Given the description of an element on the screen output the (x, y) to click on. 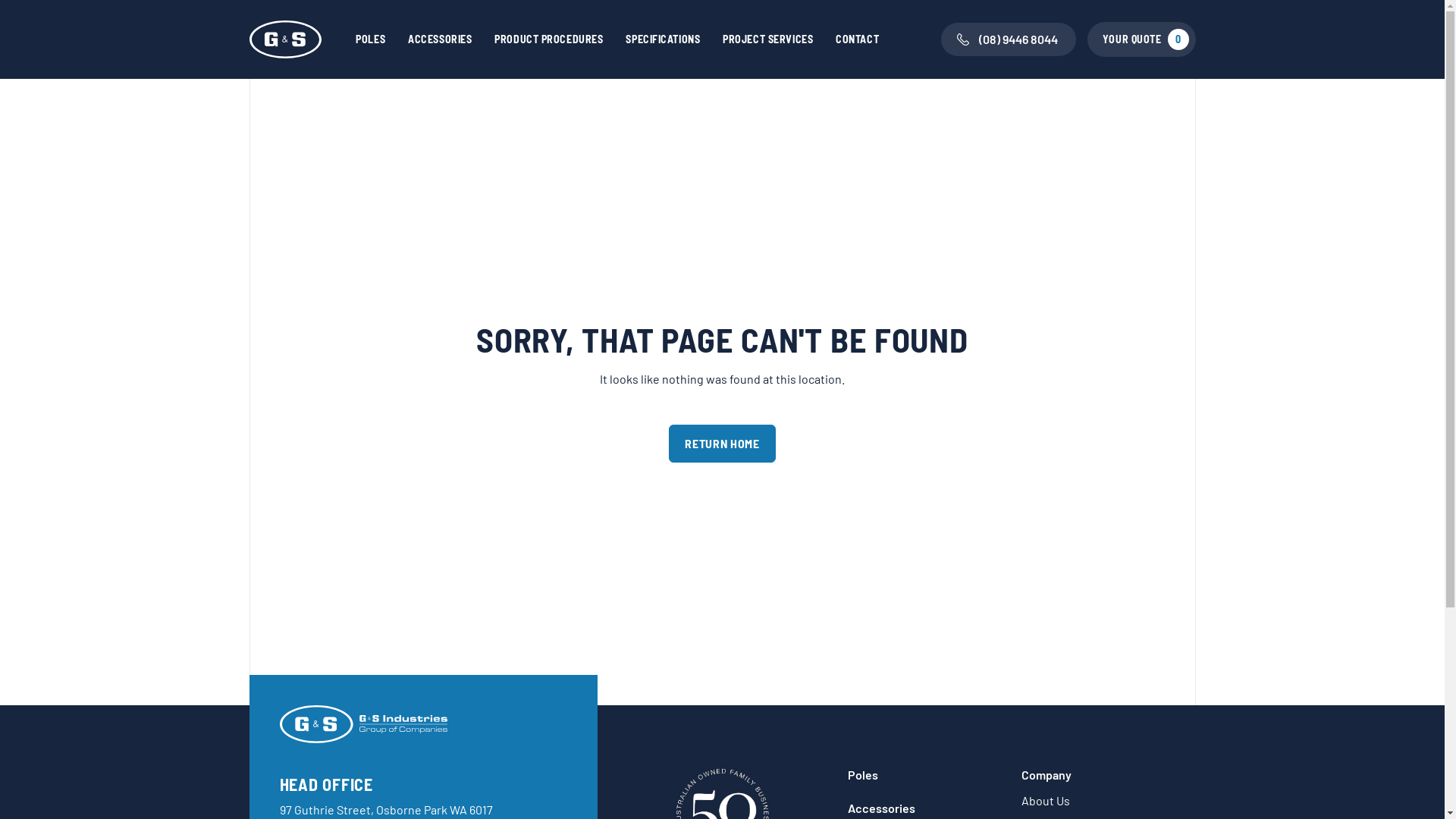
PRODUCT PROCEDURES Element type: text (548, 39)
G&S Industries Element type: hover (362, 723)
POLES Element type: text (370, 39)
YOUR QUOTE
0 Element type: text (1141, 38)
G&S Industries Element type: hover (285, 39)
Poles Element type: text (862, 774)
Company Element type: text (1046, 774)
About Us Element type: text (1045, 800)
(08) 9446 8044 Element type: text (1008, 39)
CONTACT Element type: text (857, 39)
PROJECT SERVICES Element type: text (767, 39)
RETURN HOME Element type: text (721, 443)
ACCESSORIES Element type: text (439, 39)
SPECIFICATIONS Element type: text (662, 39)
